Given the description of an element on the screen output the (x, y) to click on. 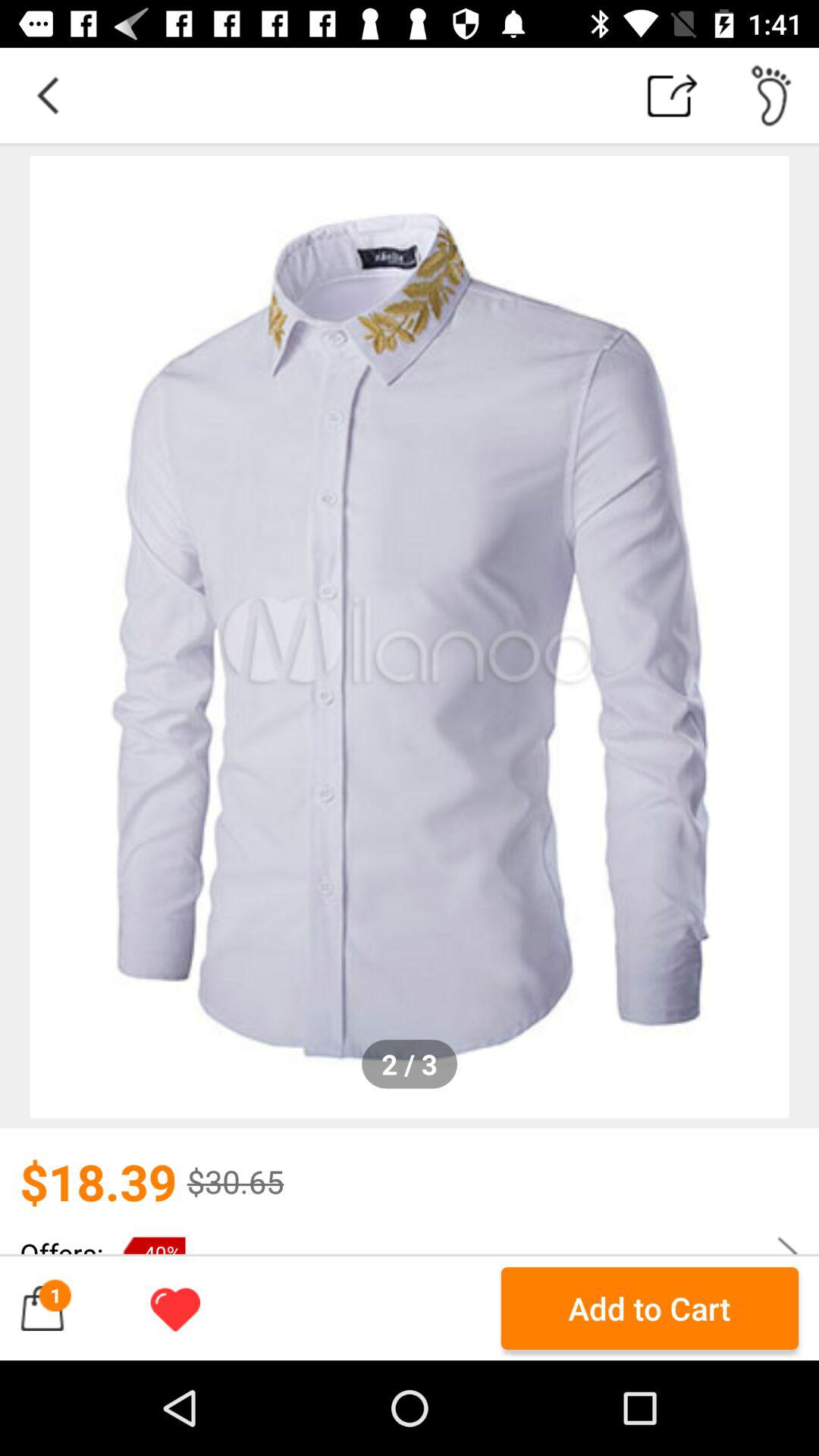
picture 2 of 3 of item (409, 636)
